Given the description of an element on the screen output the (x, y) to click on. 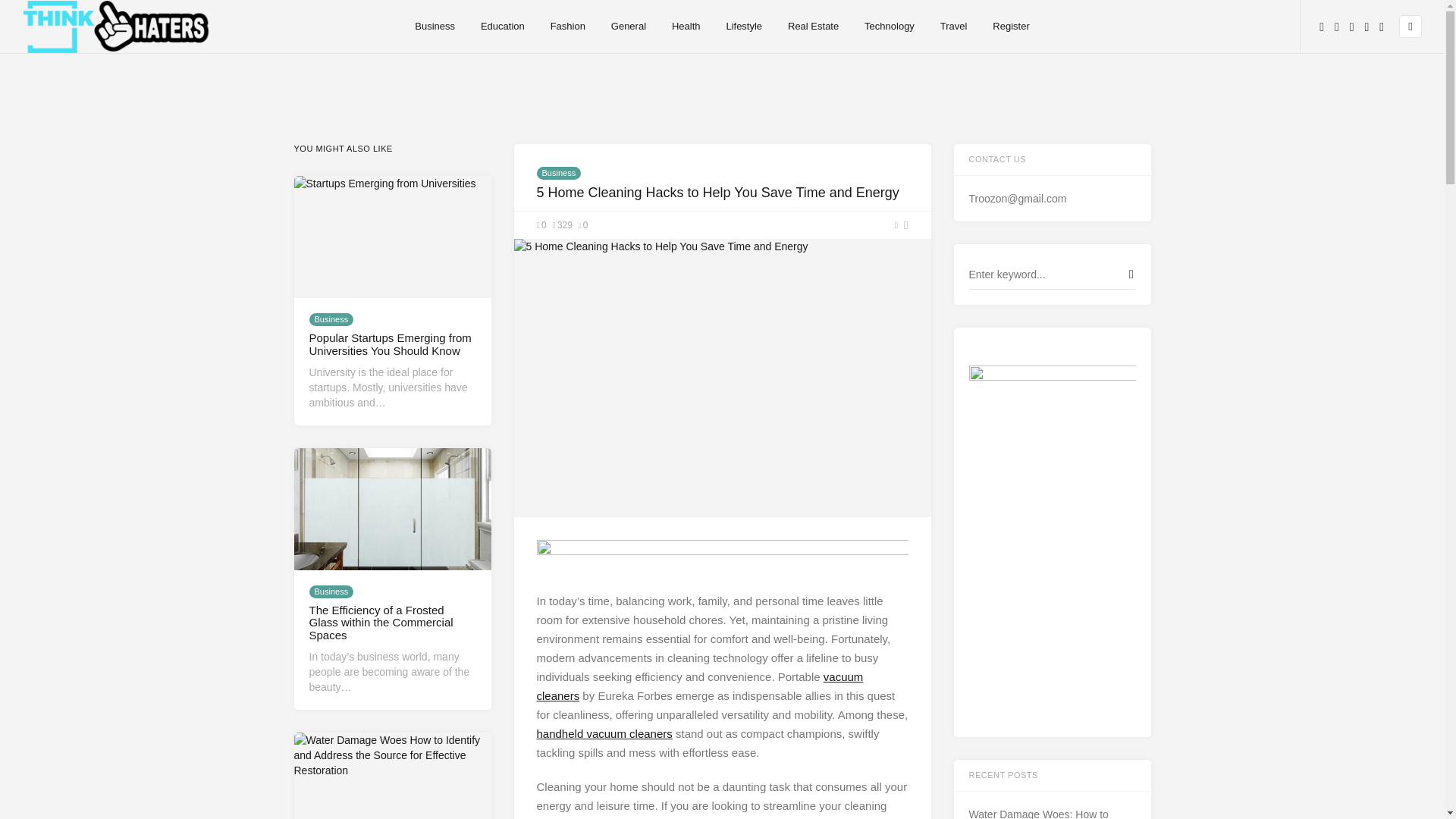
Real Estate (812, 26)
vacuum cleaners (700, 685)
0 (583, 225)
handheld vacuum cleaners (604, 733)
0 (542, 225)
Benefits of Incorporating Translucent Glass at Office Places (393, 508)
329 (562, 225)
5 Home Cleaning Hacks to Help You Save Time and Energy (722, 377)
Business (558, 173)
